Given the description of an element on the screen output the (x, y) to click on. 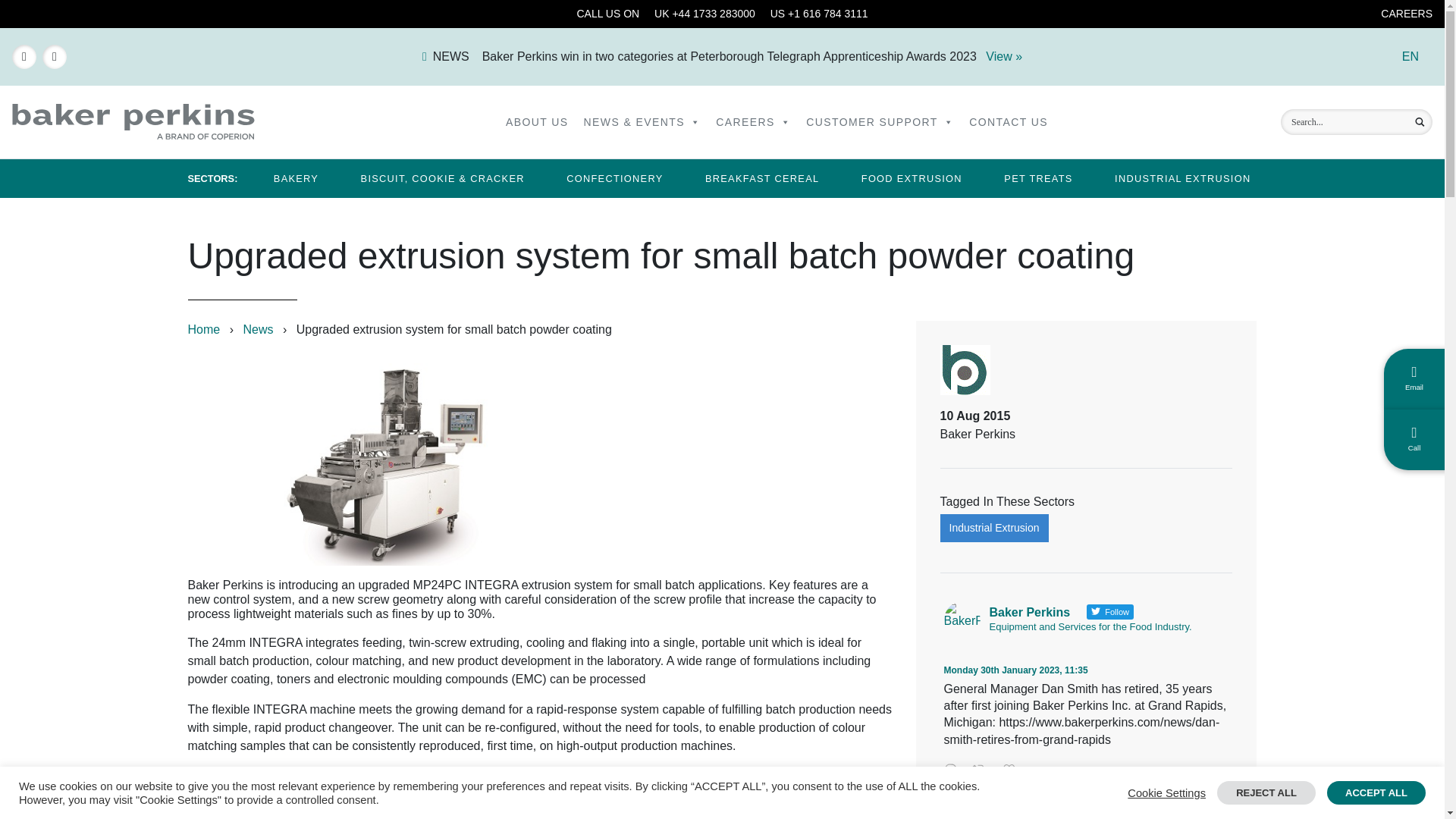
ABOUT US (536, 122)
Food Extrusion (912, 178)
Pet Treats (1037, 178)
CUSTOMER SUPPORT (878, 122)
CONTACT US (1007, 122)
Industrial Extrusion (1182, 178)
Breakfast Cereal (761, 178)
EN (1410, 56)
CAREERS (1406, 13)
CAREERS (752, 122)
Confectionery (614, 178)
Bakery (295, 178)
